Given the description of an element on the screen output the (x, y) to click on. 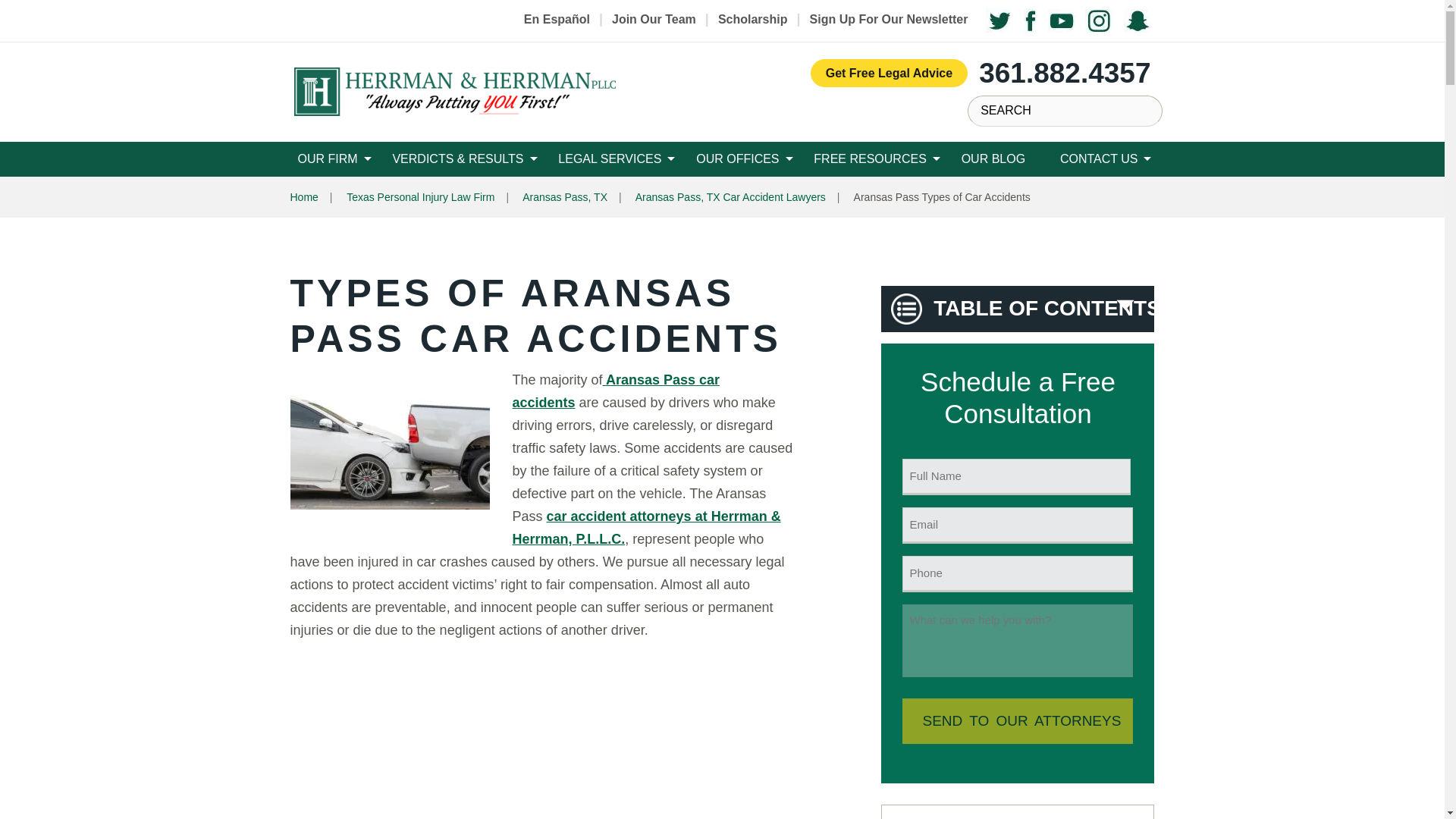
SEND TO OUR ATTORNEYS (1017, 720)
